Given the description of an element on the screen output the (x, y) to click on. 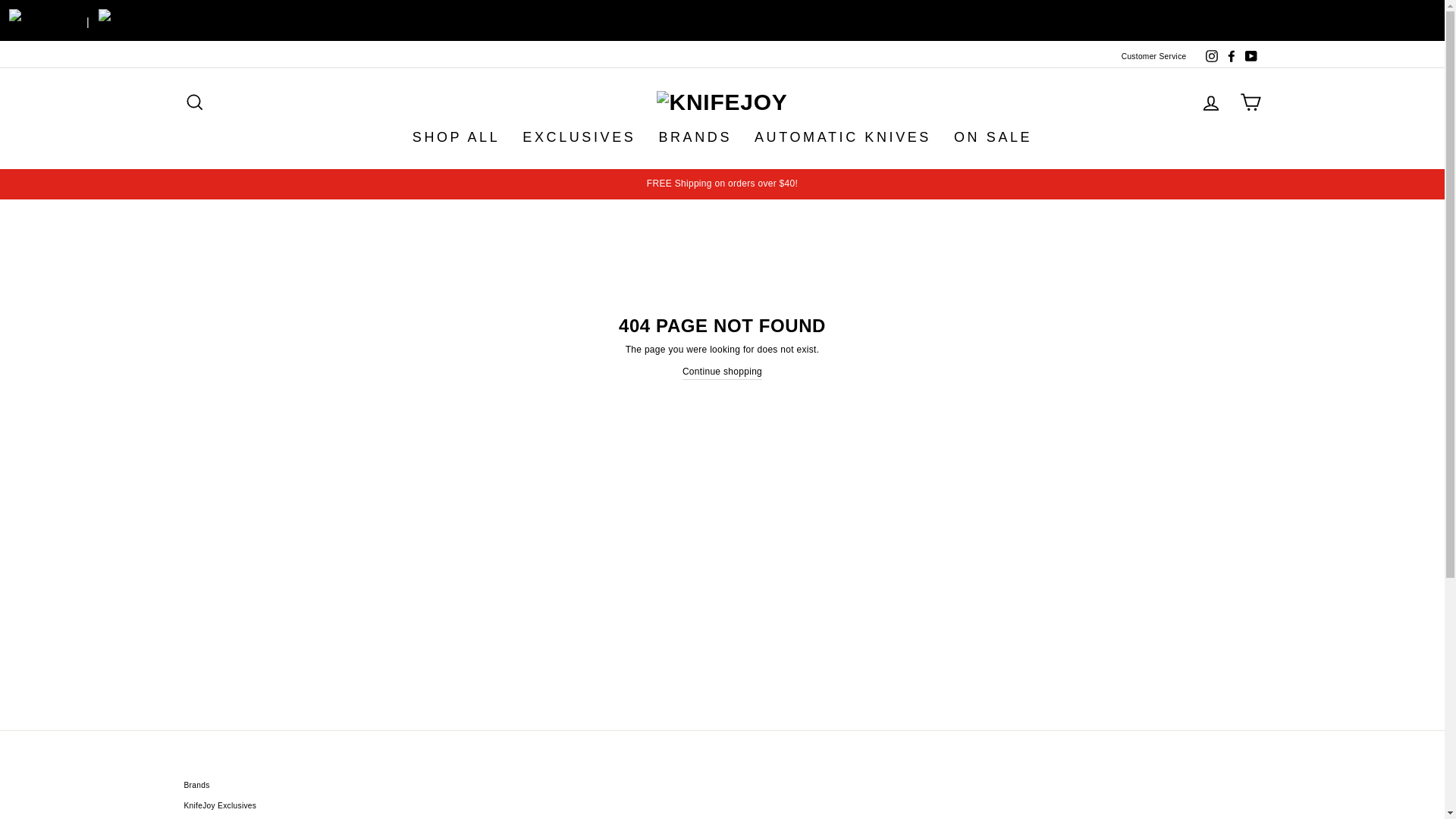
KnifeJoy on Facebook (1230, 56)
KnifeJoy on Instagram (1211, 56)
KnifeJoy on YouTube (1250, 56)
